Given the description of an element on the screen output the (x, y) to click on. 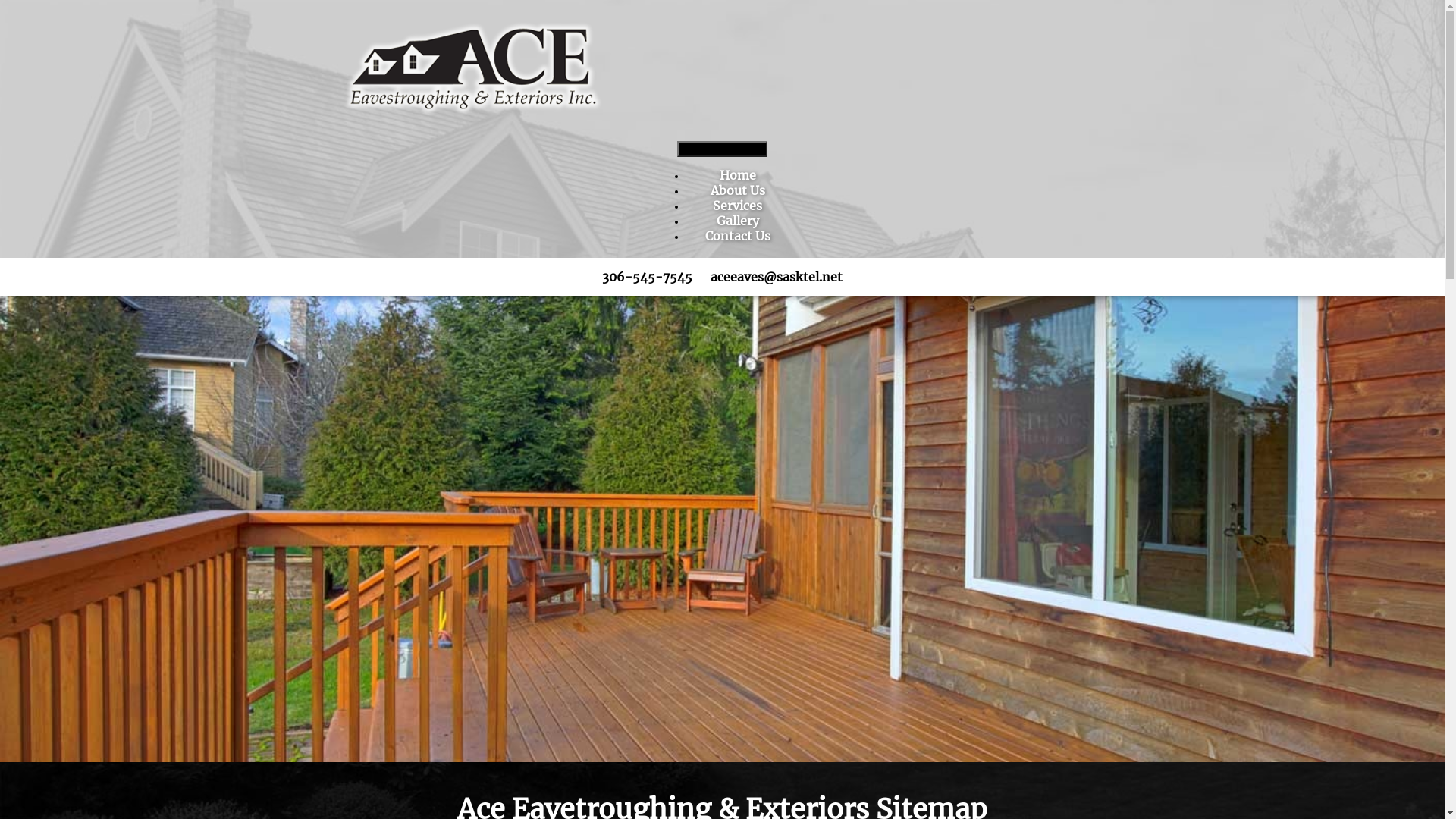
About Us Element type: text (737, 190)
aceeaves@sasktel.net Element type: text (776, 276)
Toggle navigation Element type: text (722, 148)
Services Element type: text (737, 205)
Gallery Element type: text (737, 220)
Ace Eavestroughing & Exteriors Element type: hover (472, 68)
306-545-7545 Element type: text (647, 276)
Home Element type: text (737, 175)
Contact Us Element type: text (736, 235)
